Given the description of an element on the screen output the (x, y) to click on. 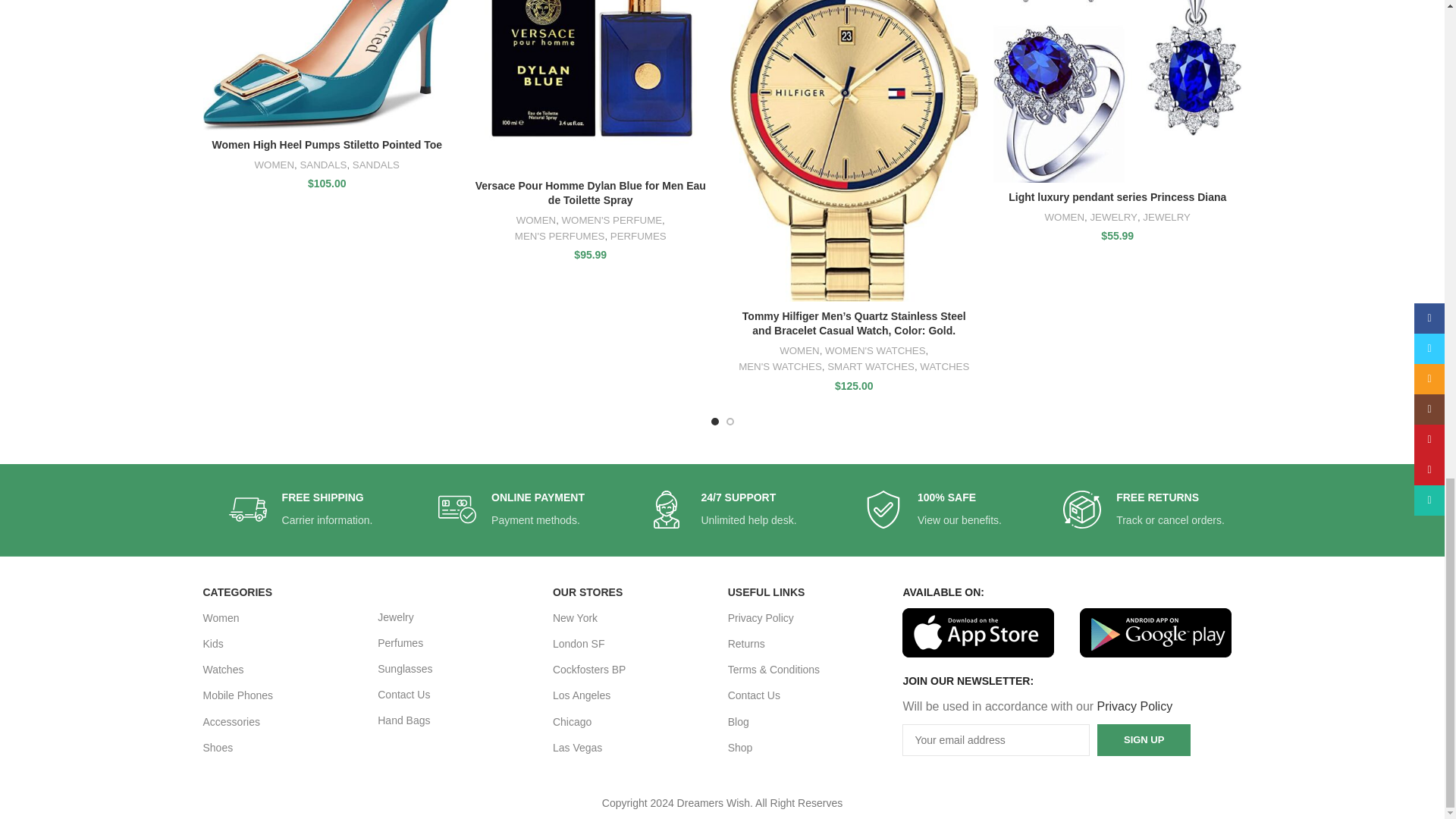
Sign up (1144, 739)
